Given the description of an element on the screen output the (x, y) to click on. 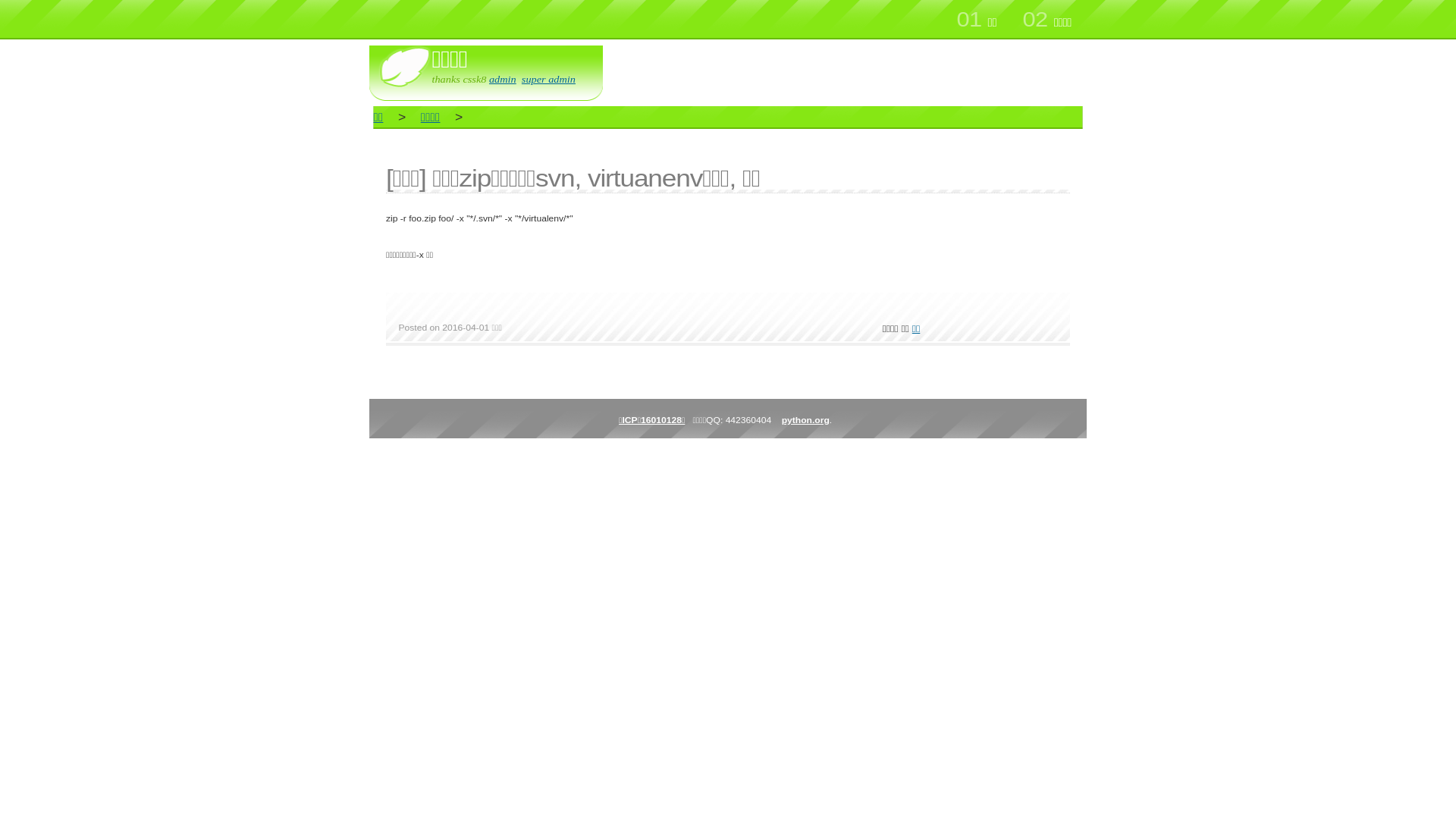
admin Element type: text (501, 78)
super admin Element type: text (546, 78)
python.org Element type: text (803, 419)
